Given the description of an element on the screen output the (x, y) to click on. 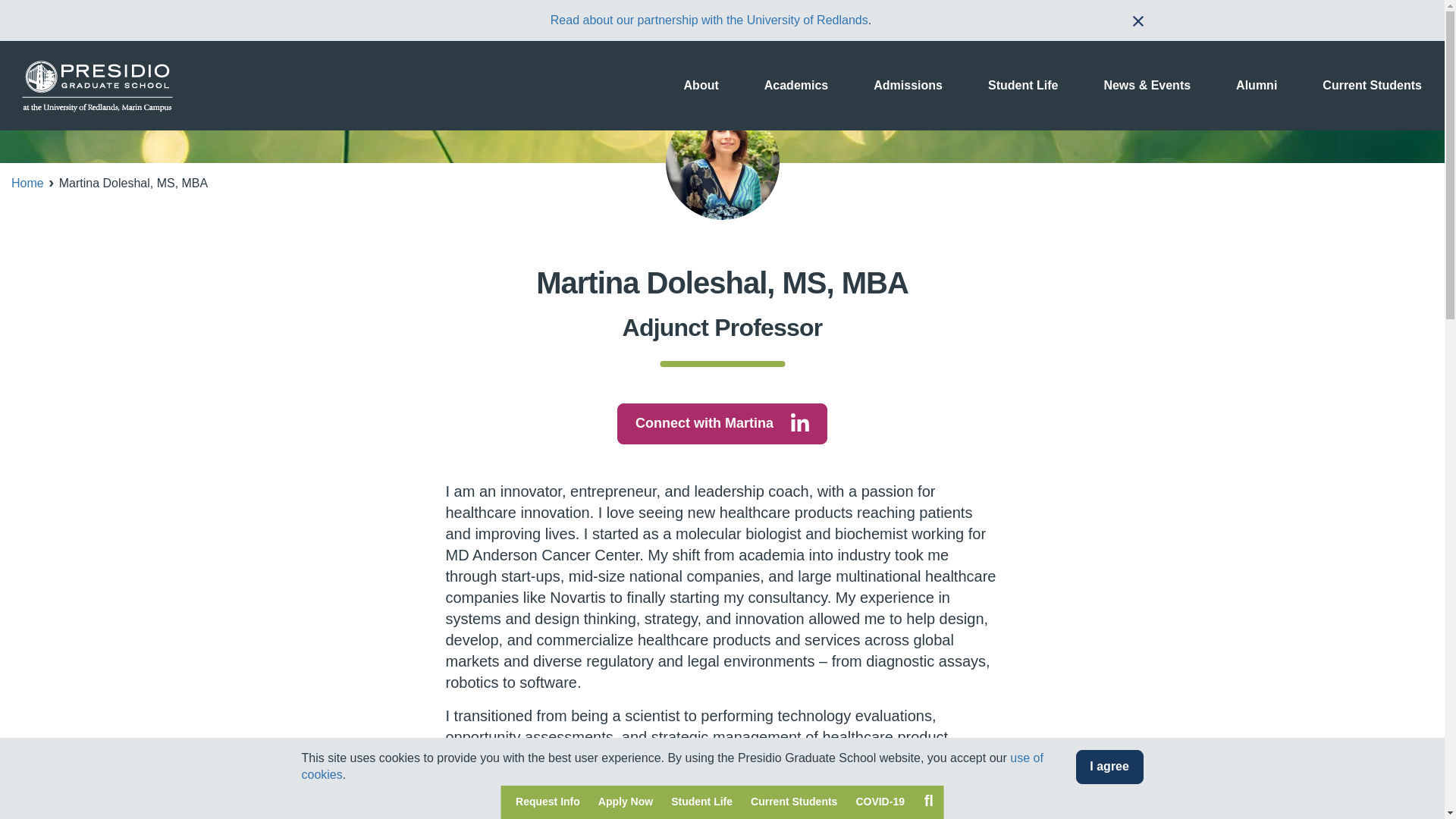
Current Students (793, 802)
Apply Now (625, 802)
COVID-19 (879, 802)
Search (928, 800)
Presidio Graduate School (97, 85)
Request Info (547, 802)
Student Life (701, 802)
